Given the description of an element on the screen output the (x, y) to click on. 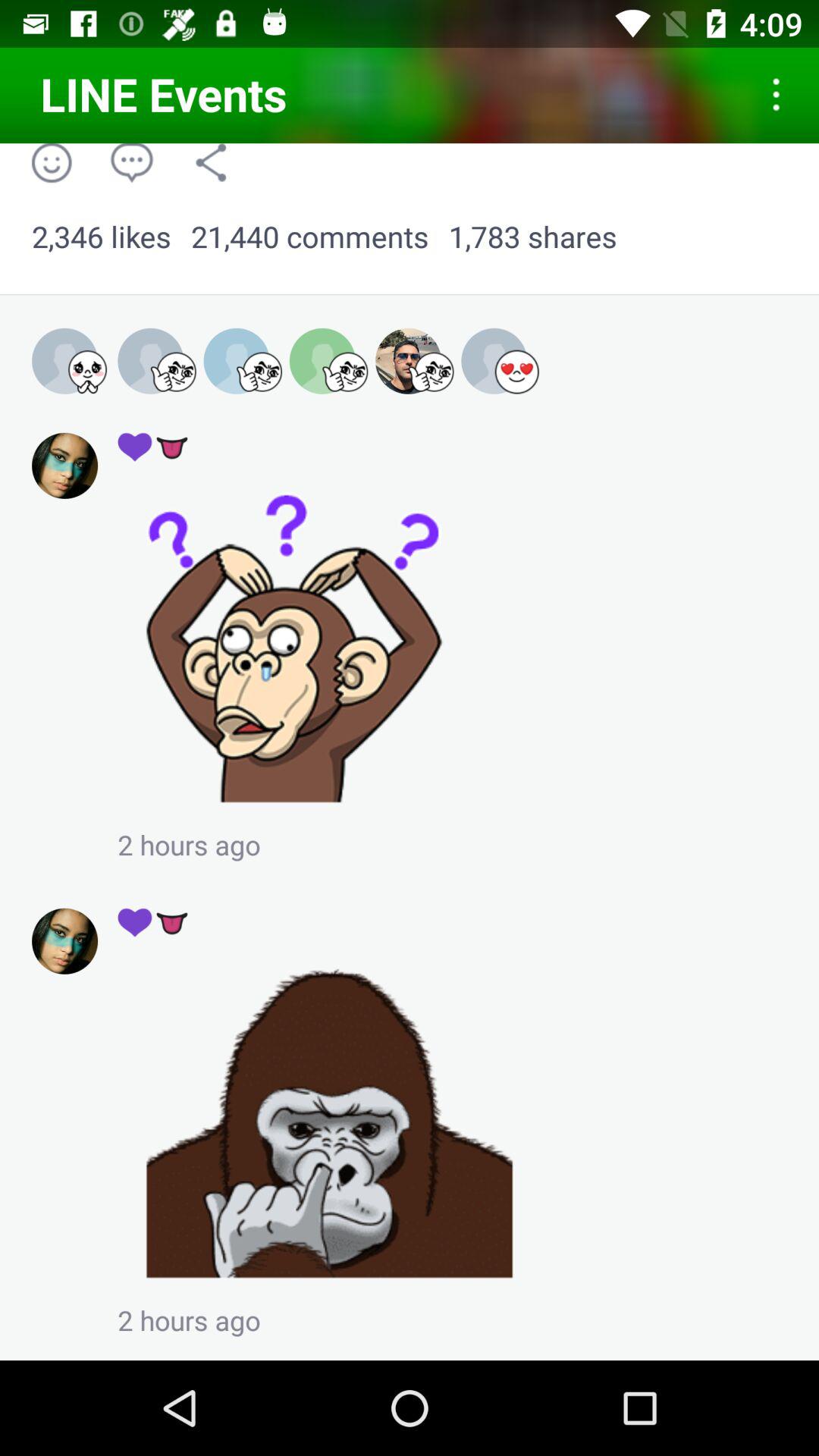
press icon below 2 hours ago app (153, 921)
